Given the description of an element on the screen output the (x, y) to click on. 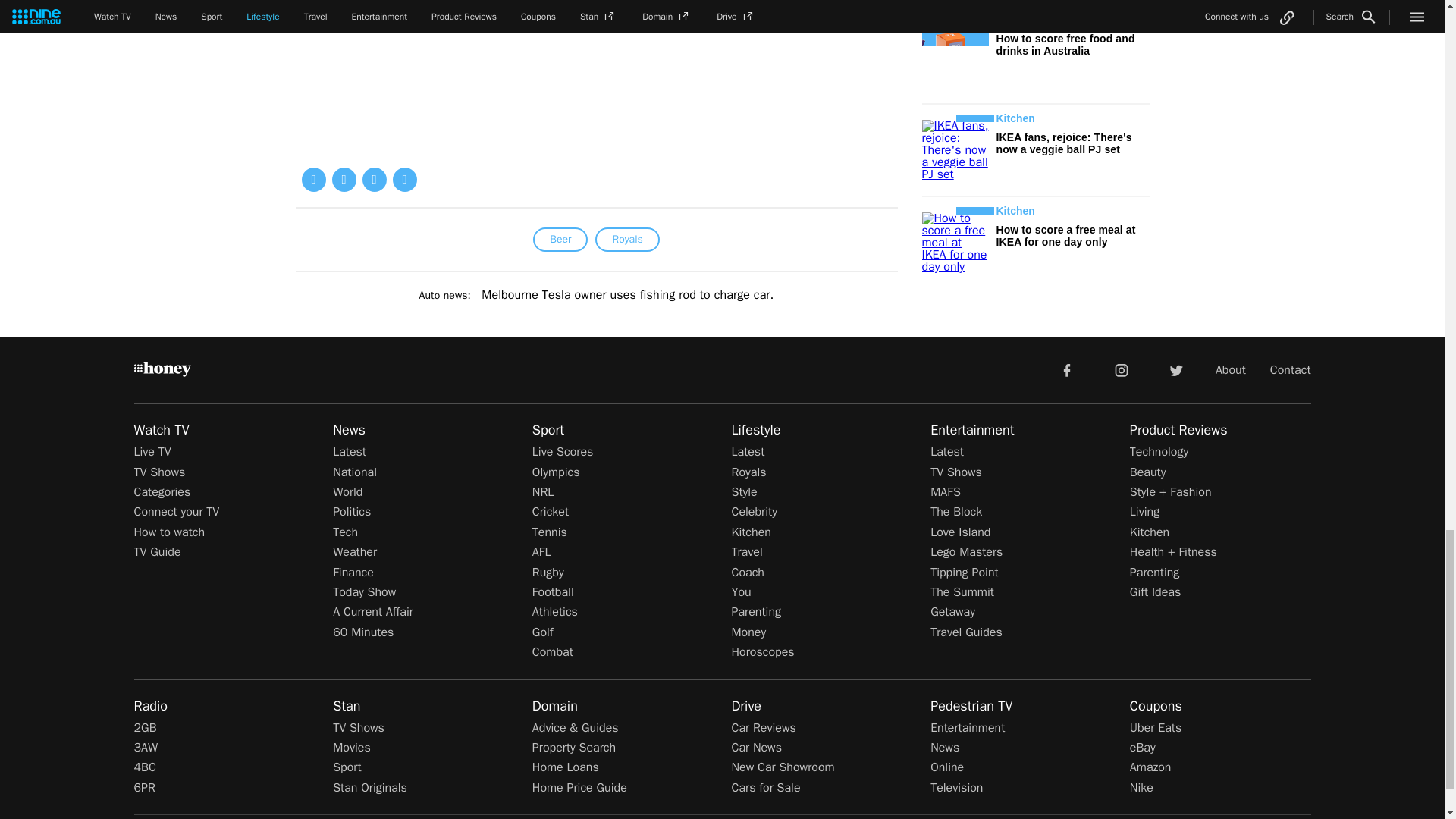
facebook (1066, 368)
instagram (1121, 368)
twitter (1175, 368)
